Given the description of an element on the screen output the (x, y) to click on. 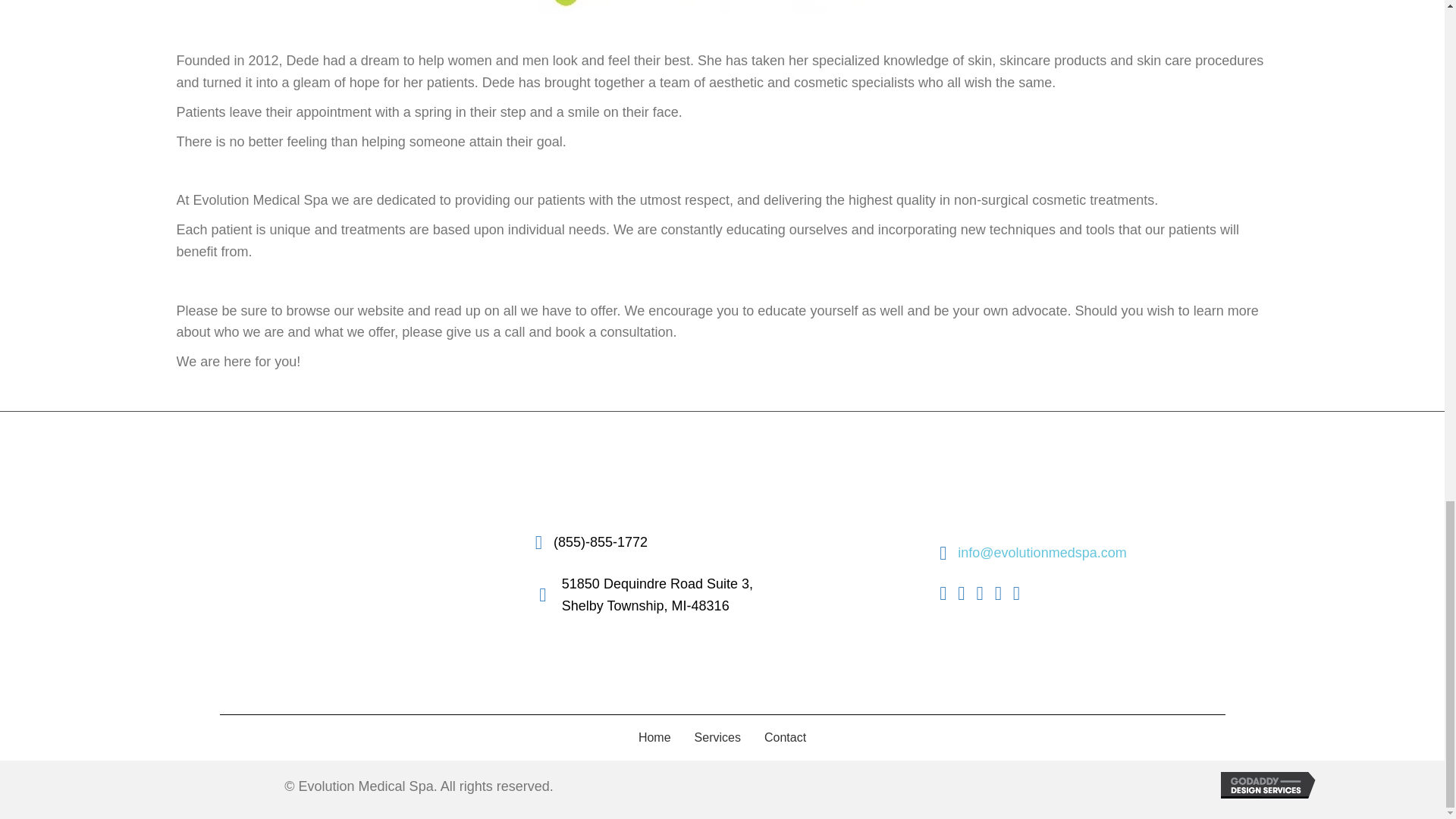
evolutionmedicalspa1 (721, 13)
Contact (784, 737)
Home (657, 594)
Services (654, 737)
